Given the description of an element on the screen output the (x, y) to click on. 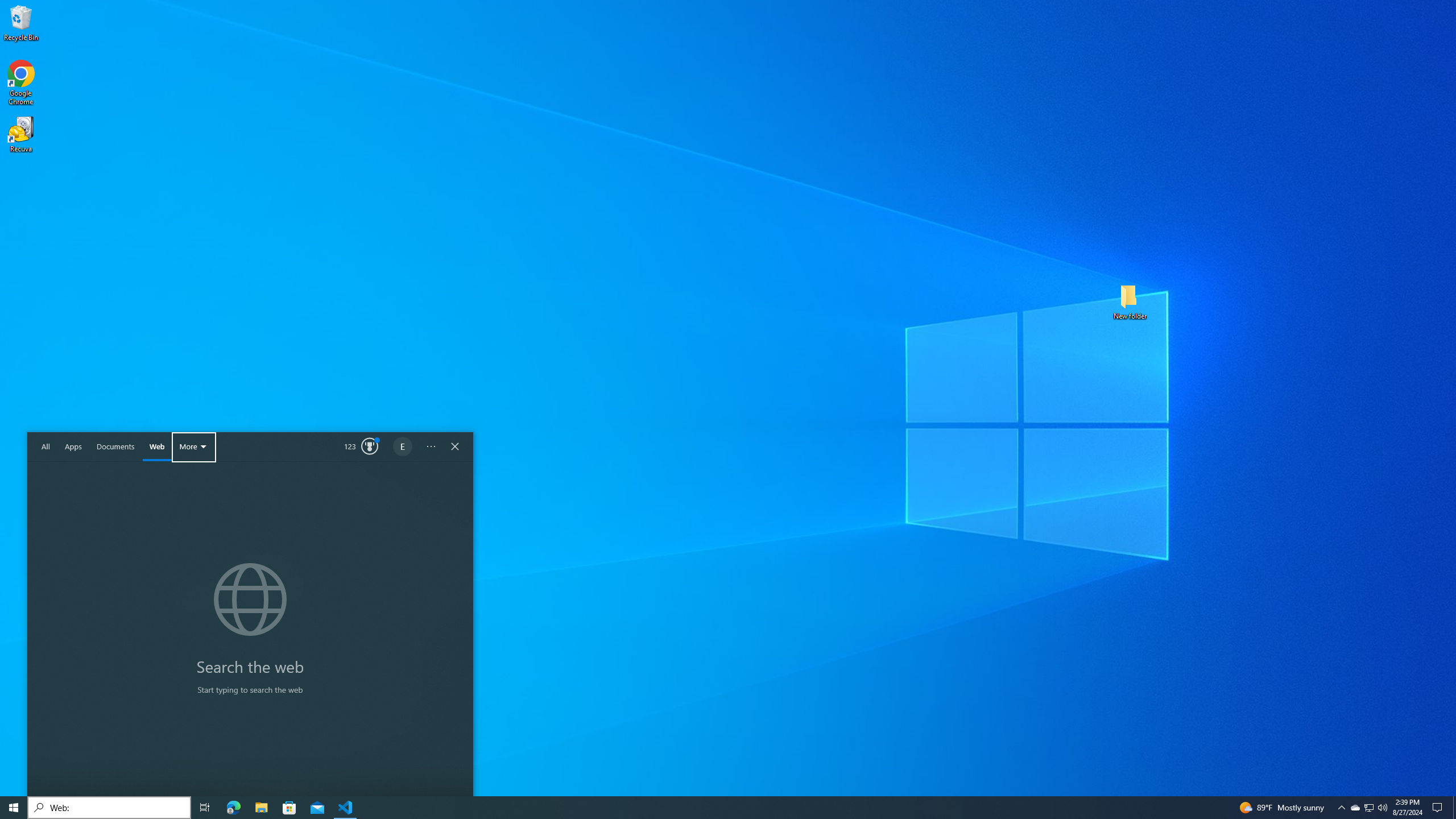
Search box (108, 807)
Notification Chevron (1368, 807)
User Promoted Notification Area (1341, 807)
Web (1368, 807)
Documents (156, 447)
EugeneLedger601@outlook.com (115, 447)
Options (403, 447)
All (430, 447)
Show desktop (45, 447)
More (1454, 807)
Start (194, 447)
Close Windows Search (13, 807)
